Given the description of an element on the screen output the (x, y) to click on. 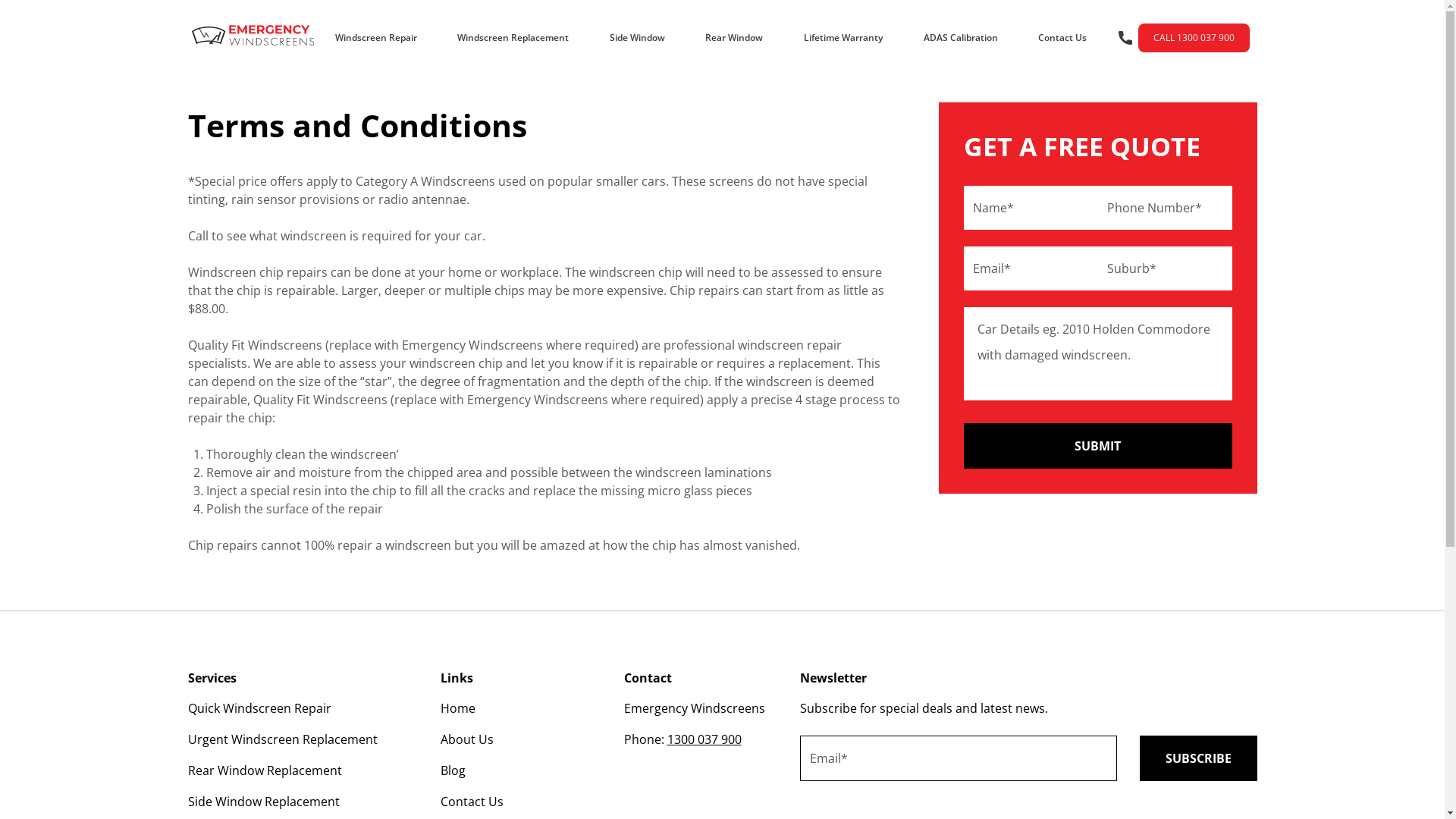
Contact Us Element type: text (1062, 37)
About Us Element type: text (465, 739)
Urgent Windscreen Replacement Element type: text (282, 739)
1300 037 900 Element type: text (704, 739)
Home Element type: text (456, 708)
Windscreen Repair Element type: text (375, 37)
Blog Element type: text (451, 770)
Side Window Replacement Element type: text (263, 801)
Rear Window Replacement Element type: text (265, 770)
Subscribe Element type: text (1197, 758)
Windscreen Replacement Element type: text (512, 37)
Rear Window Element type: text (733, 37)
Submit Element type: text (1097, 445)
Quick Windscreen Repair Element type: text (259, 708)
CALL 1300 037 900 Element type: text (1180, 37)
ADAS Calibration Element type: text (960, 37)
Contact Us Element type: text (470, 801)
Lifetime Warranty Element type: text (843, 37)
Side Window Element type: text (637, 37)
